Given the description of an element on the screen output the (x, y) to click on. 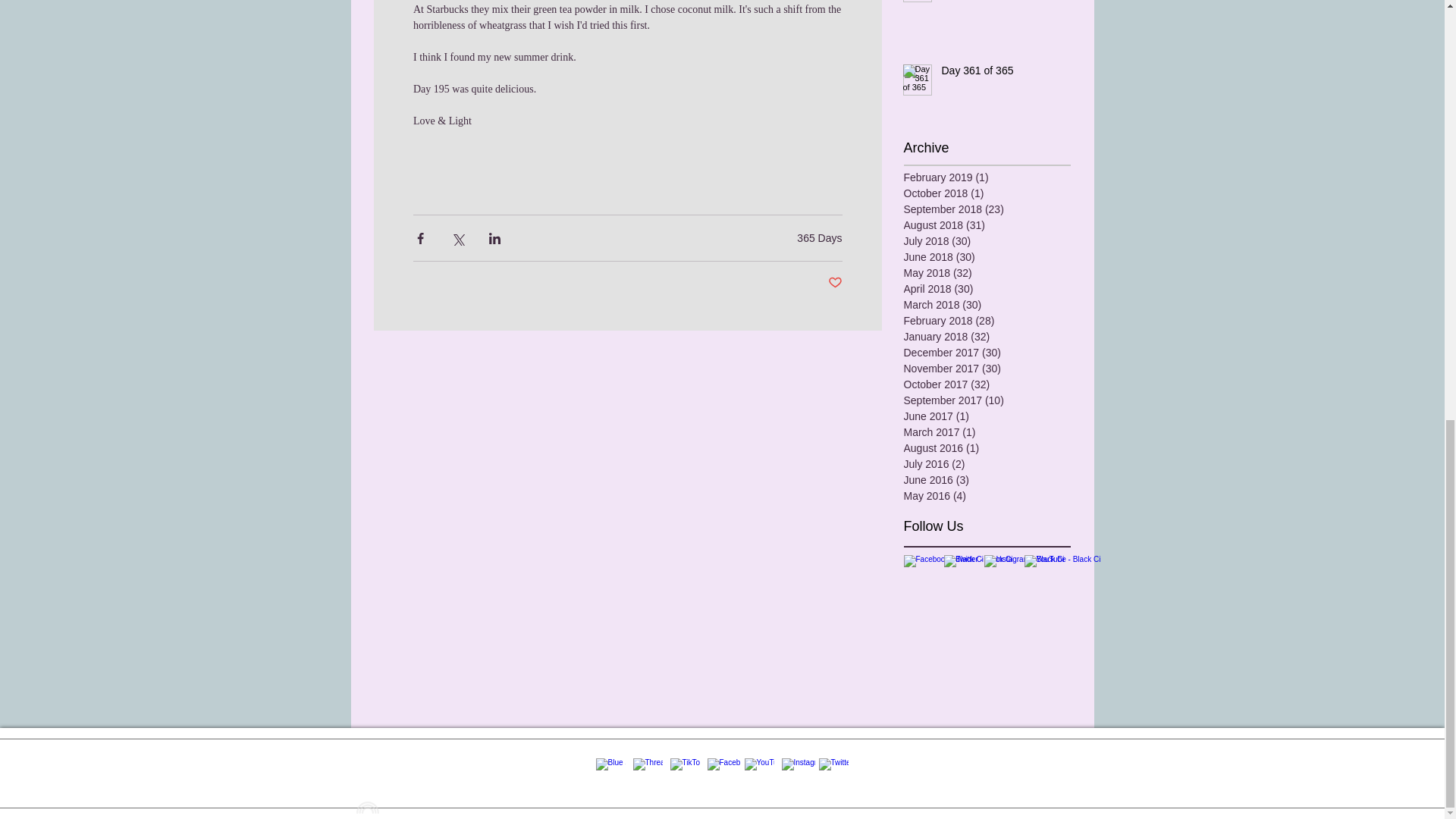
365 Days (818, 237)
Day 361 of 365 (996, 74)
Post not marked as liked (835, 283)
